Given the description of an element on the screen output the (x, y) to click on. 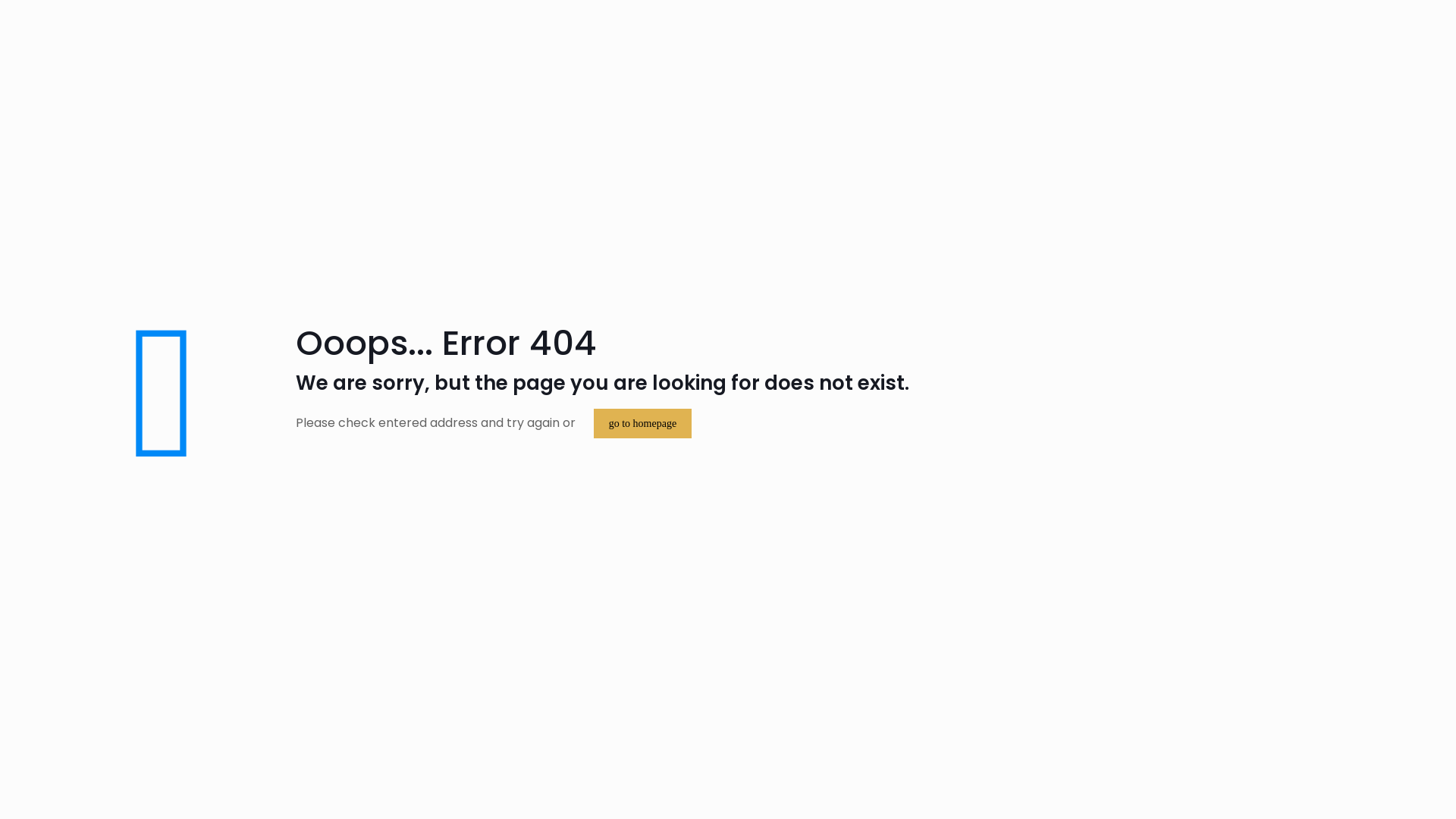
go to homepage Element type: text (642, 423)
